Given the description of an element on the screen output the (x, y) to click on. 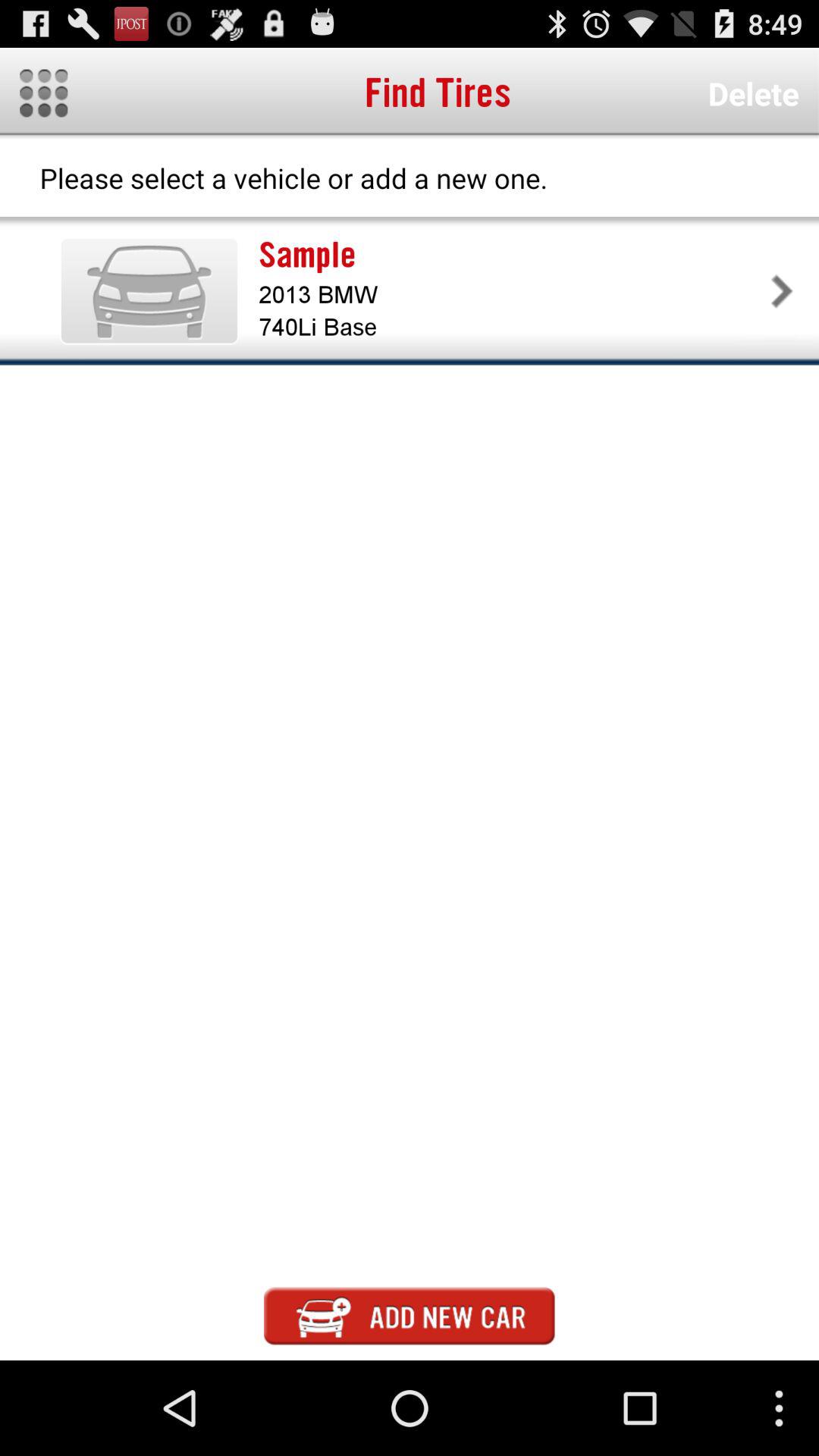
press the app below the please select a (511, 254)
